Given the description of an element on the screen output the (x, y) to click on. 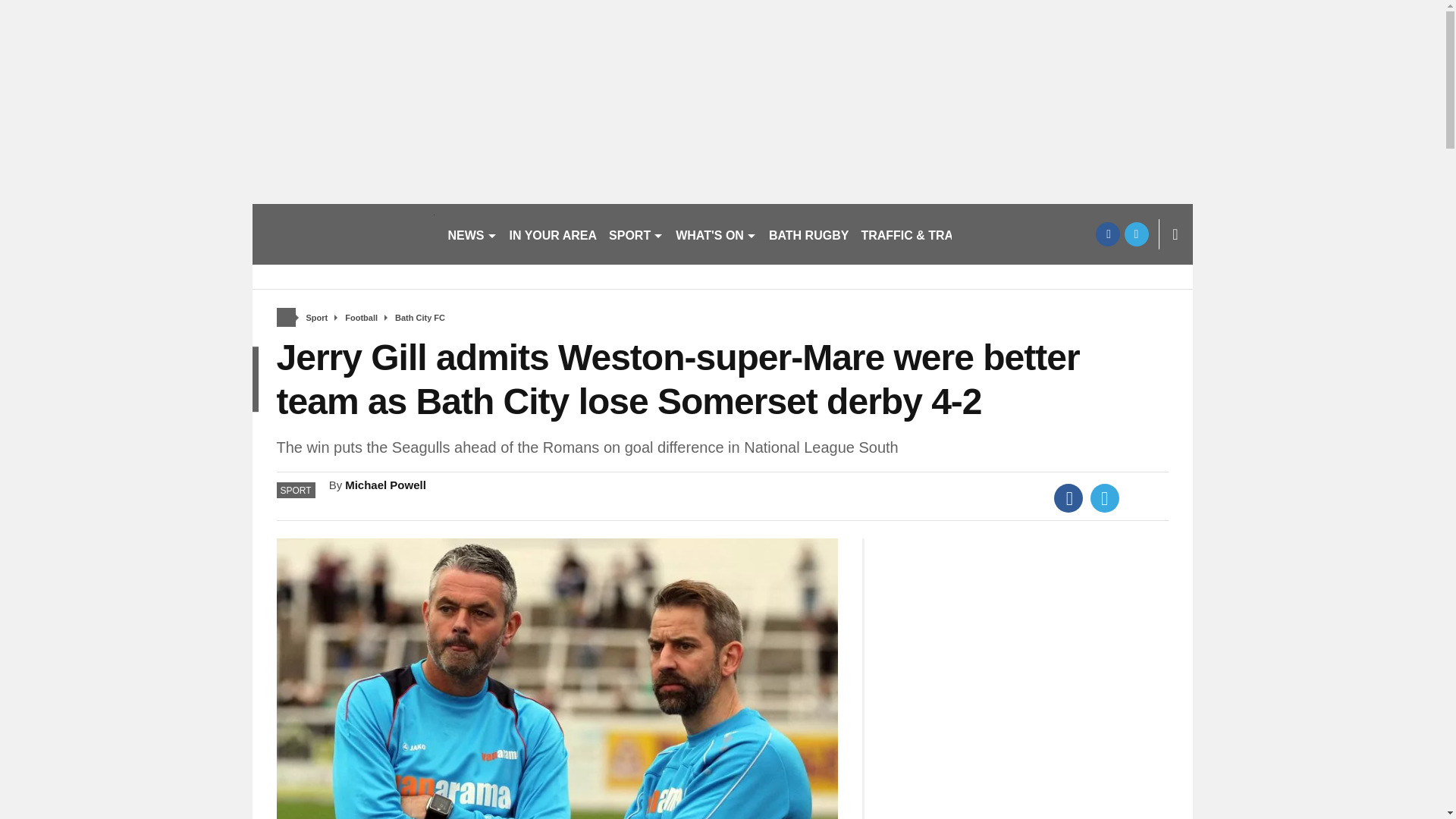
NEWS (471, 233)
IN YOUR AREA (553, 233)
WHAT'S ON (715, 233)
Facebook (1068, 498)
BATH RUGBY (808, 233)
facebook (1106, 233)
Twitter (1104, 498)
SPORT (635, 233)
twitter (1136, 233)
bathchronicle (342, 233)
